Given the description of an element on the screen output the (x, y) to click on. 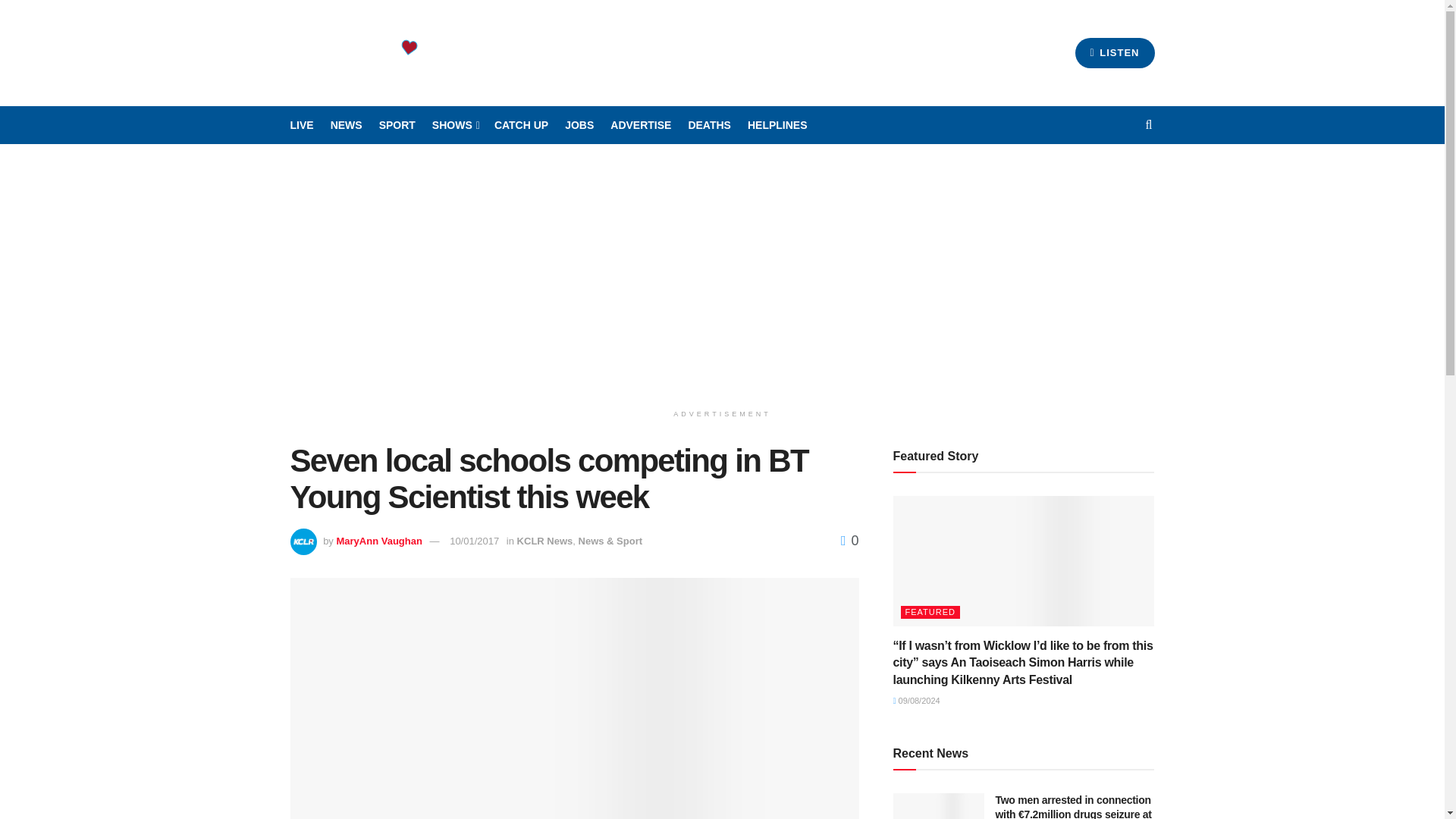
DEATHS (708, 125)
HELPLINES (778, 125)
SHOWS (454, 125)
SPORT (396, 125)
CATCH UP (521, 125)
KCLR Sport on Scoreline.ie (396, 125)
ADVERTISE (640, 125)
Carlow and Kilkenny Death Notices (708, 125)
LISTEN (1114, 52)
